Given the description of an element on the screen output the (x, y) to click on. 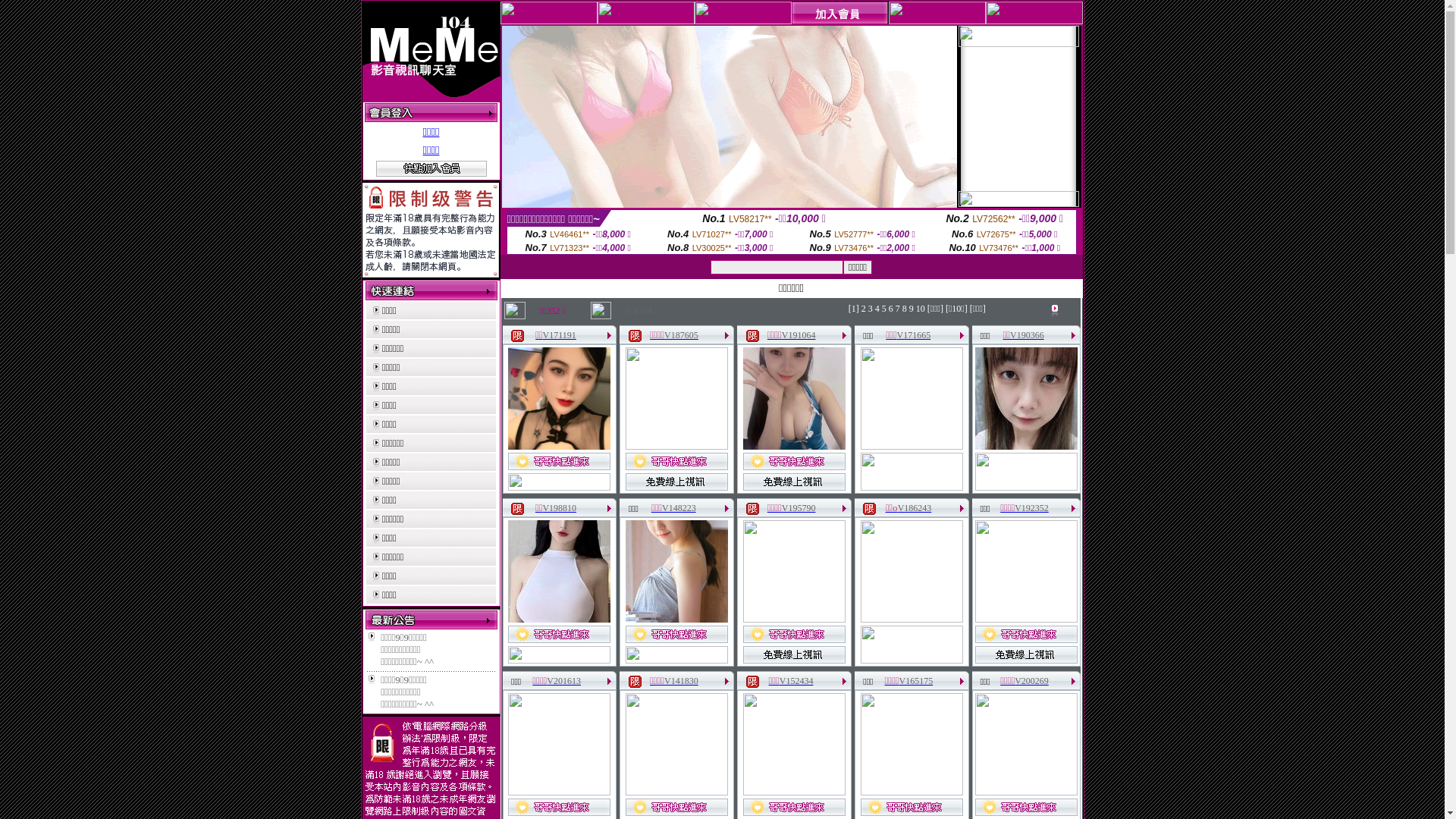
V187605 Element type: text (681, 334)
7 Element type: text (897, 308)
V201613 Element type: text (563, 680)
V200269 Element type: text (1031, 680)
4 Element type: text (877, 308)
V165175 Element type: text (916, 680)
V192352 Element type: text (1031, 507)
10 Element type: text (920, 308)
V191064 Element type: text (798, 334)
8 Element type: text (904, 308)
V186243 Element type: text (914, 507)
2 Element type: text (863, 308)
V171191 Element type: text (559, 334)
V190366 Element type: text (1027, 334)
V198810 Element type: text (559, 507)
6 Element type: text (890, 308)
5 Element type: text (883, 308)
V148223 Element type: text (679, 507)
3 Element type: text (870, 308)
V152434 Element type: text (796, 680)
V171665 Element type: text (914, 334)
V141830 Element type: text (681, 680)
9 Element type: text (911, 308)
V195790 Element type: text (798, 507)
